Given the description of an element on the screen output the (x, y) to click on. 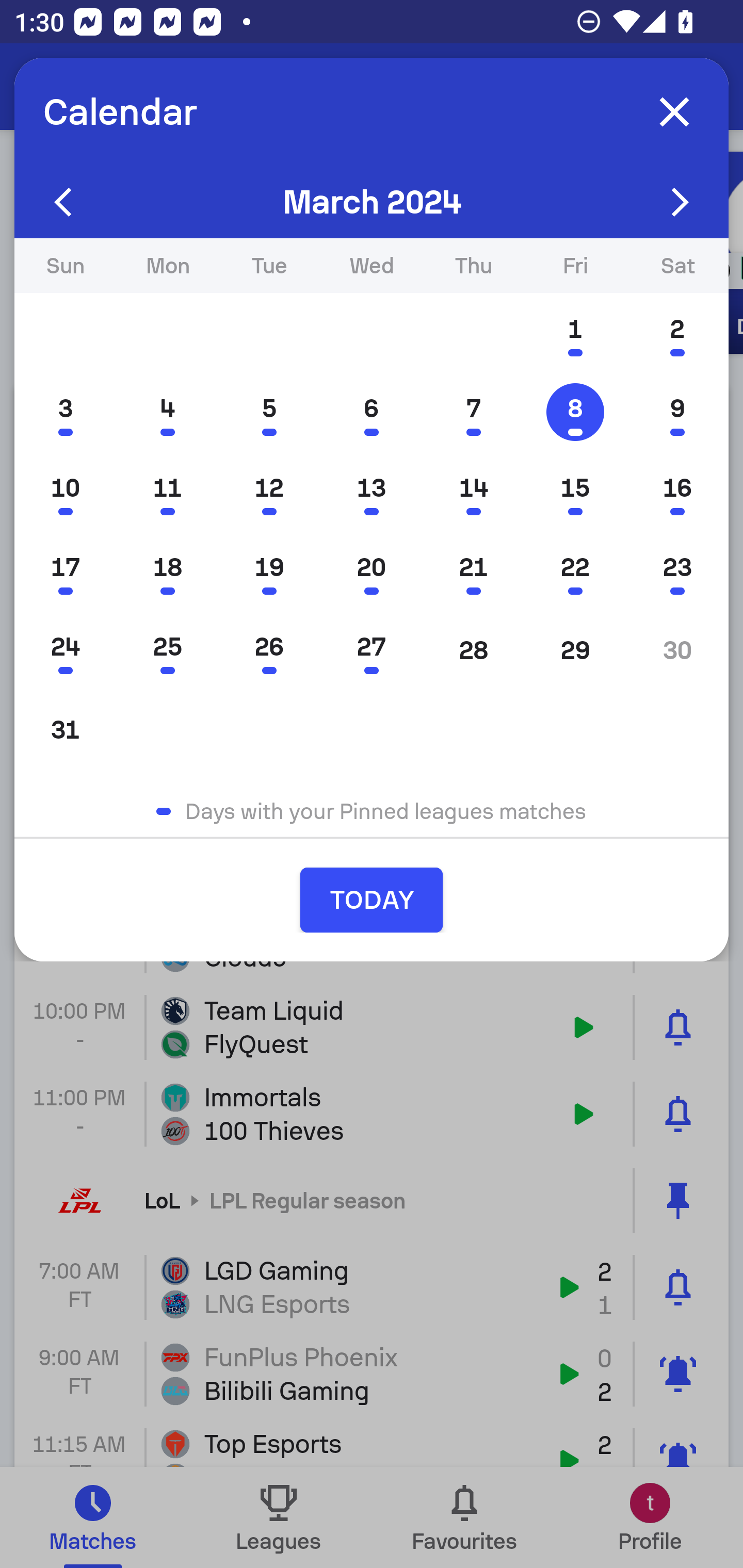
Esports (114, 86)
1 (575, 333)
2 (677, 333)
3 (65, 412)
4 (167, 412)
5 (269, 412)
6 (371, 412)
7 (473, 412)
8 (575, 412)
9 (677, 412)
10 (65, 491)
11 (167, 491)
12 (269, 491)
13 (371, 491)
14 (473, 491)
15 (575, 491)
16 (677, 491)
17 (65, 570)
18 (167, 570)
19 (269, 570)
20 (371, 570)
21 (473, 570)
22 (575, 570)
23 (677, 570)
24 (65, 649)
25 (167, 649)
26 (269, 649)
27 (371, 649)
28 (473, 649)
29 (575, 649)
30 (677, 649)
31 (65, 729)
TODAY (371, 899)
